Given the description of an element on the screen output the (x, y) to click on. 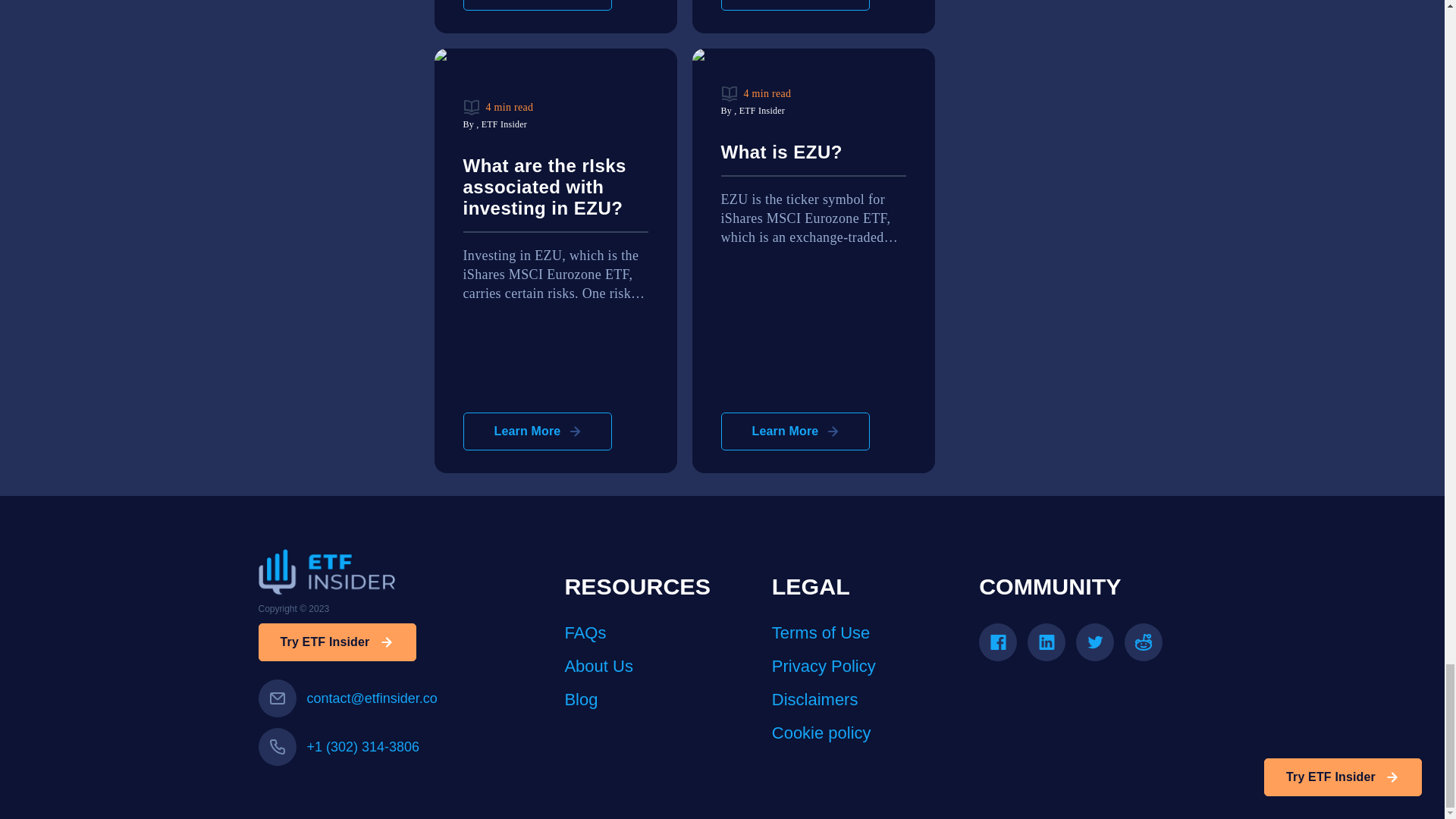
What is EZU? (812, 158)
What are the rIsks associated with investing in EZU? (555, 193)
Learn More (537, 431)
Learn More (794, 5)
Learn More (537, 5)
Learn More (794, 431)
